Given the description of an element on the screen output the (x, y) to click on. 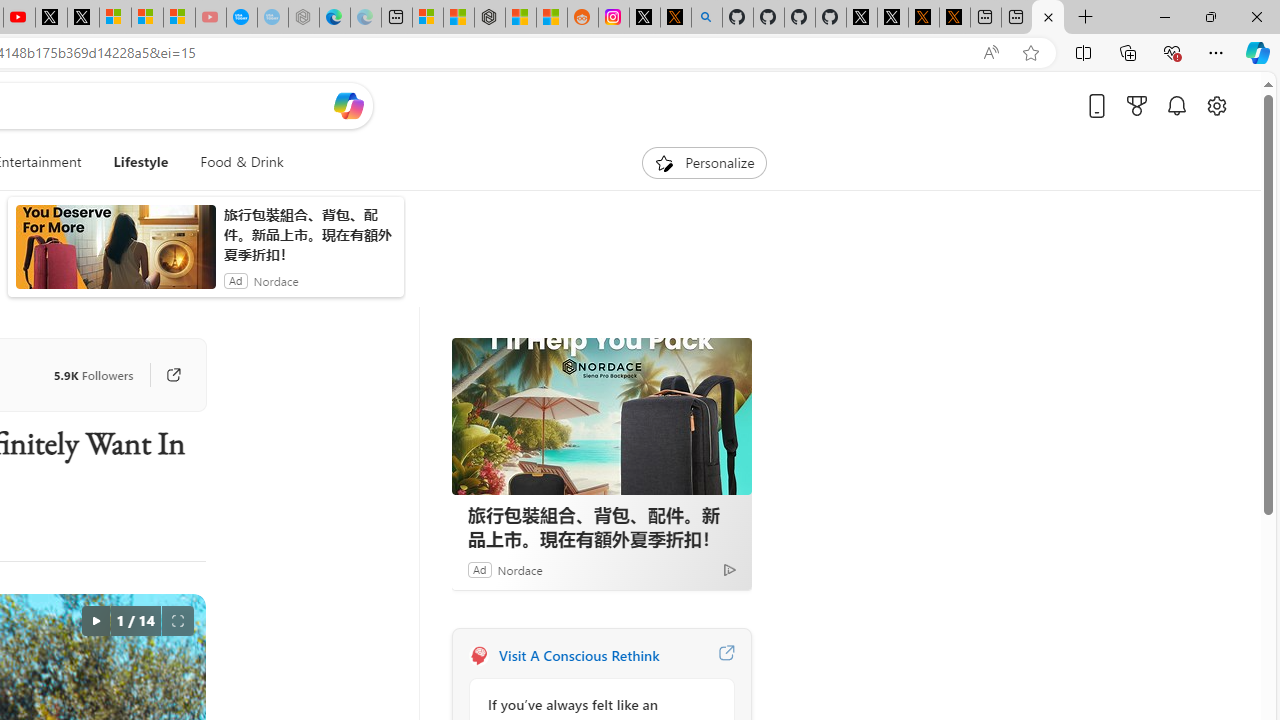
Aberdeen (513, 315)
Open Copilot (347, 138)
Opinion: Op-Ed and Commentary - USA TODAY (210, 17)
Autos (215, 265)
Feed settings (703, 266)
Shanghai, China Weather trends | Microsoft Weather (520, 17)
Hourly (511, 411)
Traffic (155, 265)
See full forecast (695, 579)
Click to see more information (728, 449)
Personalize your feed" (571, 266)
Autos (216, 267)
amazon - Search (258, 88)
